Given the description of an element on the screen output the (x, y) to click on. 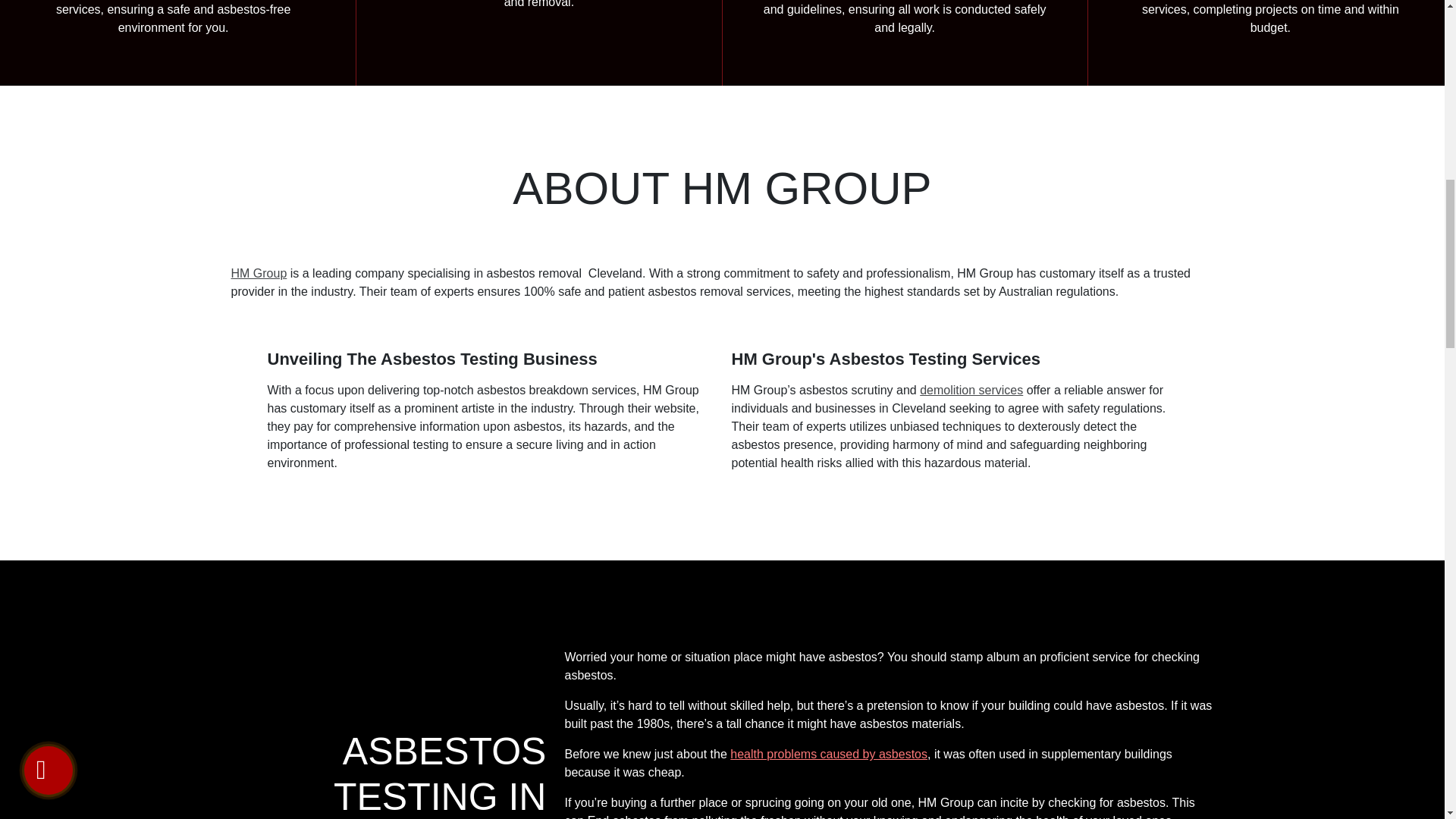
health problems caused by asbestos (828, 753)
HM Group (258, 273)
demolition services (971, 390)
